Given the description of an element on the screen output the (x, y) to click on. 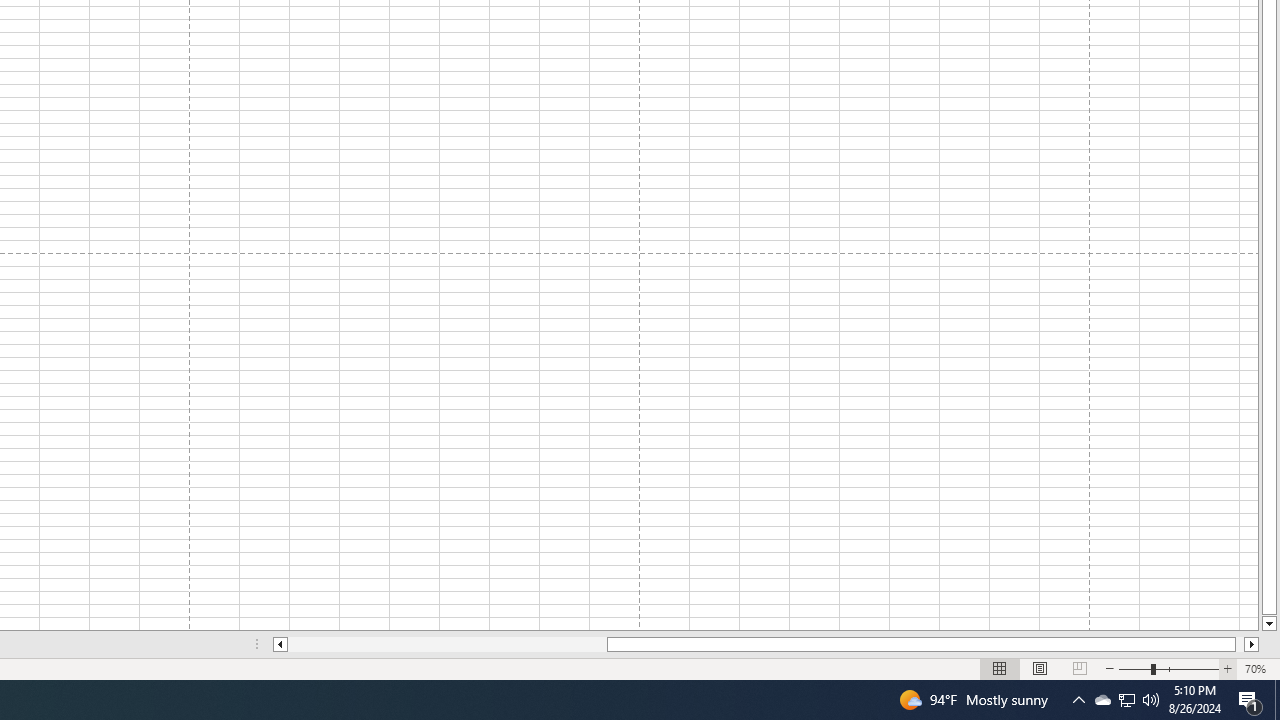
Page left (447, 644)
